Given the description of an element on the screen output the (x, y) to click on. 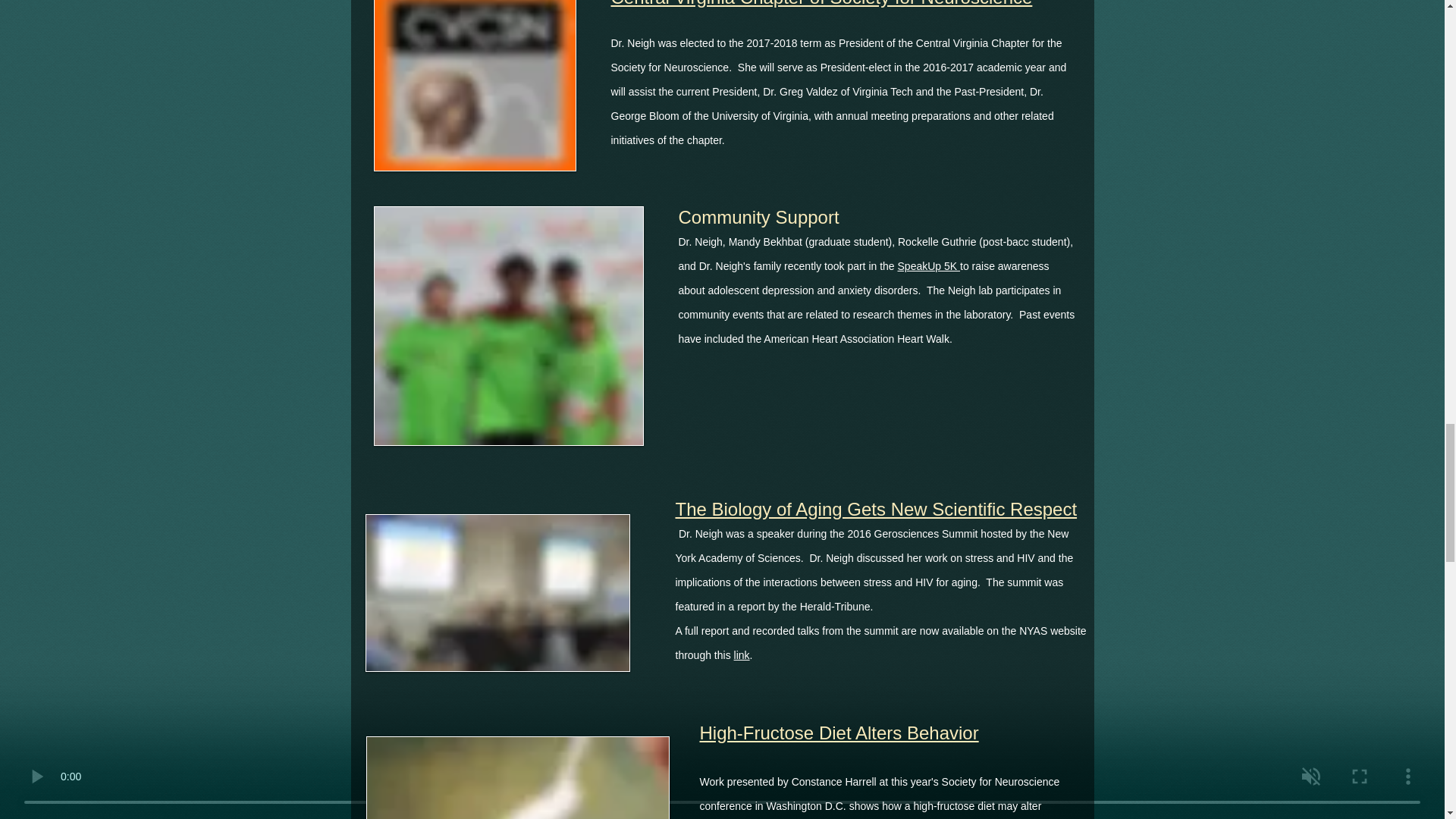
Community Support (758, 216)
Central Virginia Chapter of Society for Neuroscience (821, 4)
SpeakUp 5K (929, 265)
